Given the description of an element on the screen output the (x, y) to click on. 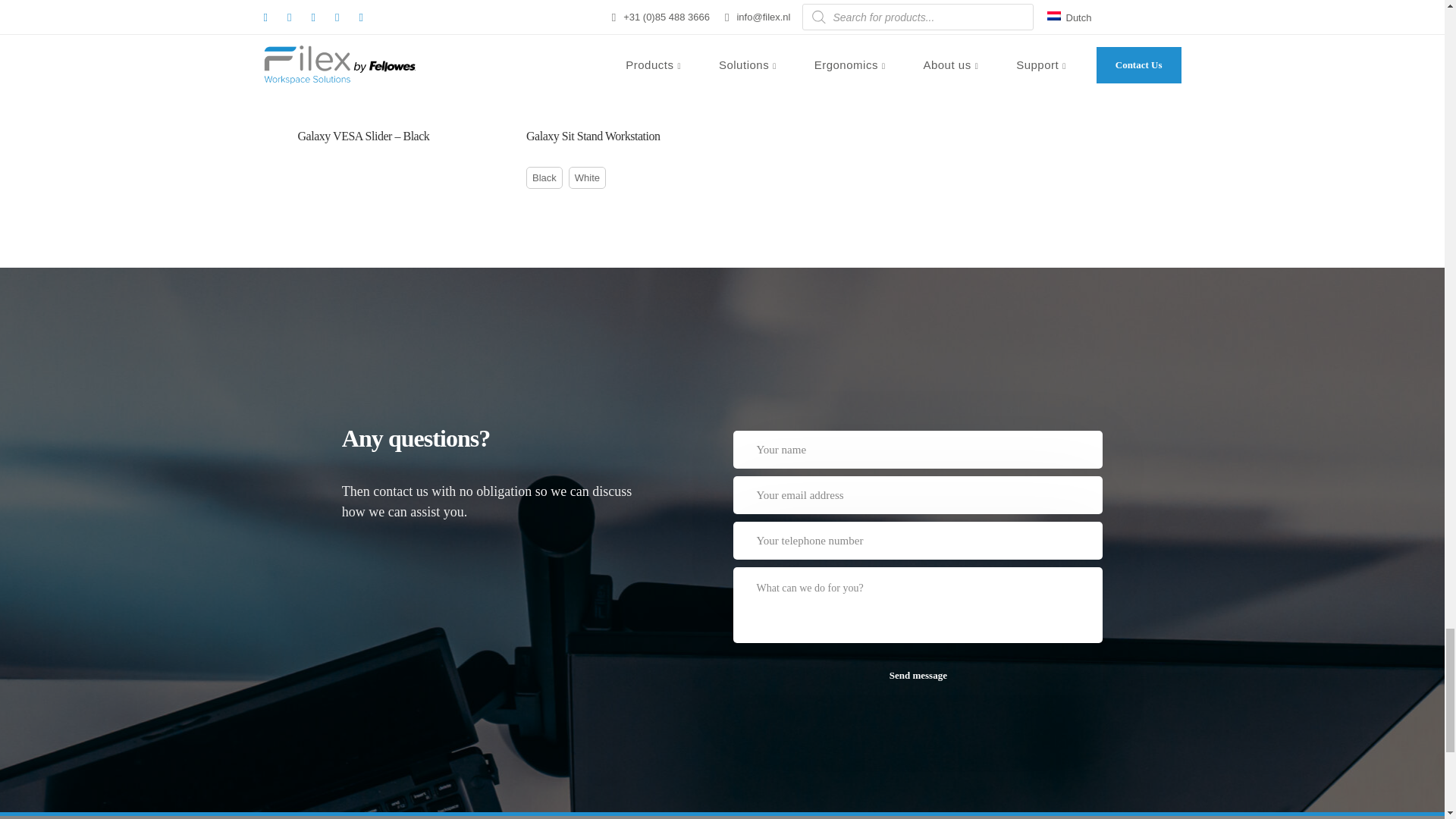
Send message (917, 675)
